Given the description of an element on the screen output the (x, y) to click on. 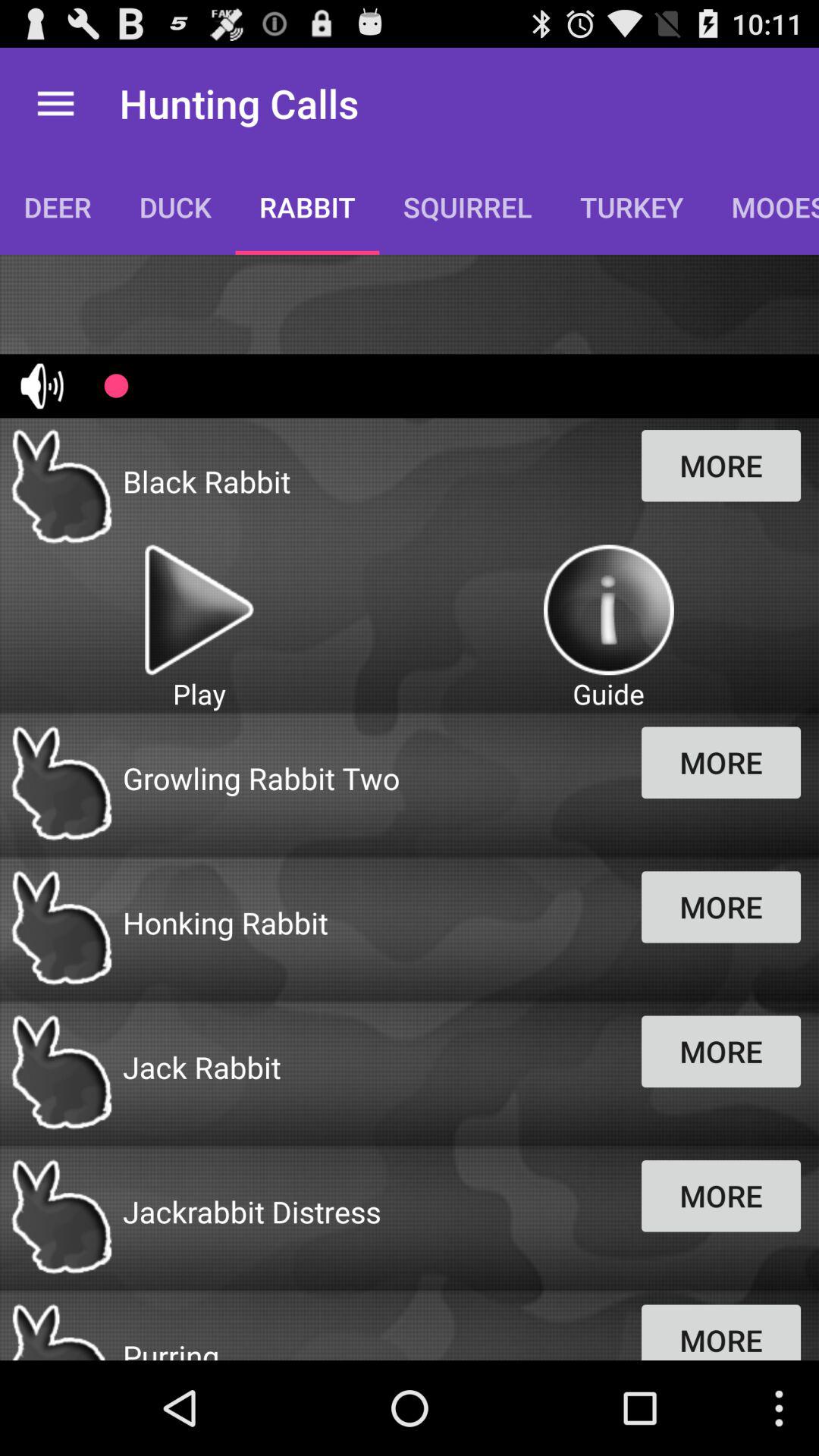
play audio (199, 609)
